Given the description of an element on the screen output the (x, y) to click on. 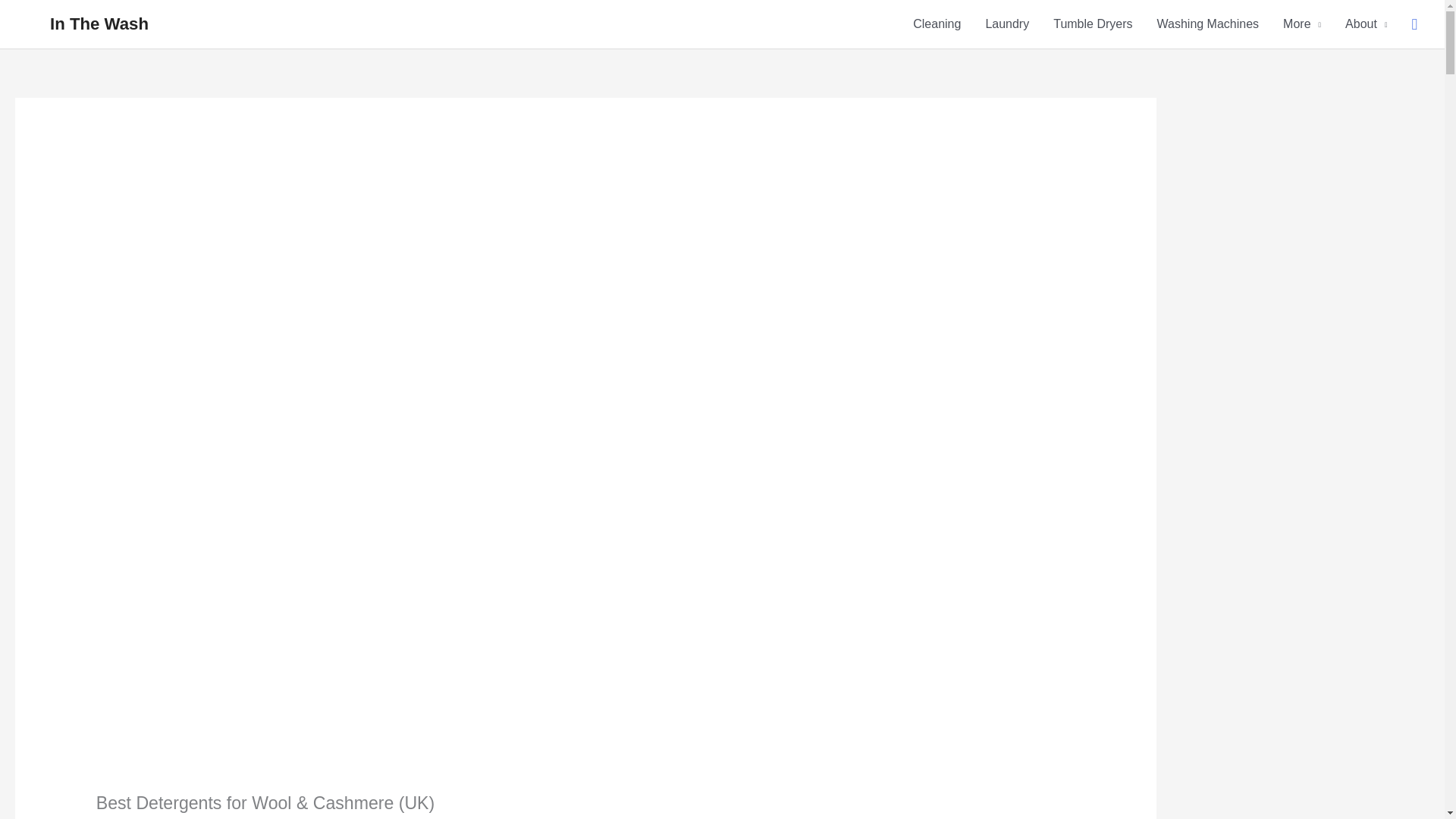
More (1302, 24)
Washing Machines (1207, 24)
About (1366, 24)
In The Wash (98, 23)
Tumble Dryers (1092, 24)
Cleaning (936, 24)
Laundry (1006, 24)
